Given the description of an element on the screen output the (x, y) to click on. 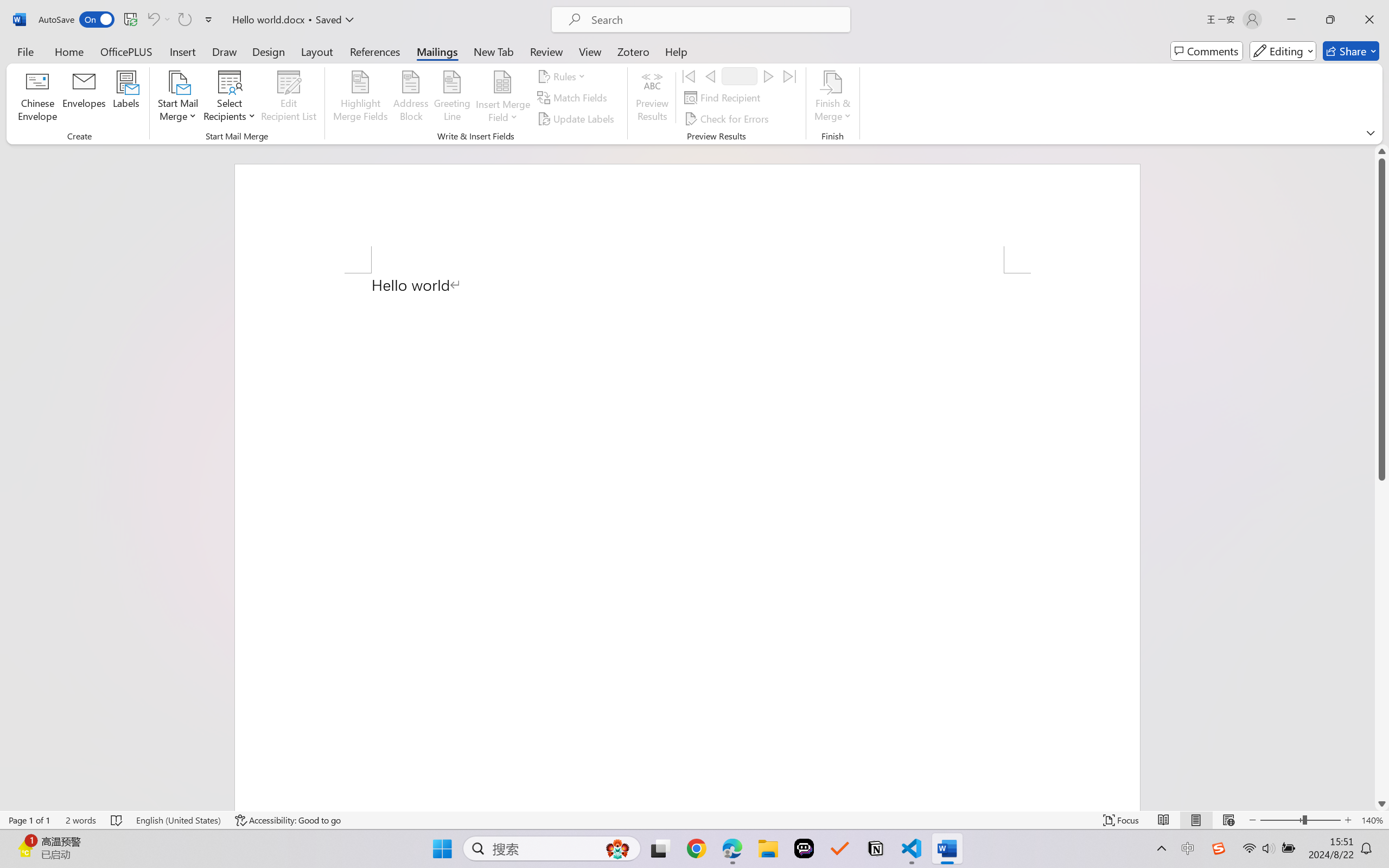
Zoom In (1348, 819)
First (688, 75)
More Options (502, 112)
Previous (709, 75)
Read Mode (1163, 819)
View (589, 51)
Line up (1382, 150)
Class: MsoCommandBar (694, 819)
Insert Merge Field (502, 97)
Match Fields... (573, 97)
Envelopes... (84, 97)
Edit Recipient List... (288, 97)
References (375, 51)
